Given the description of an element on the screen output the (x, y) to click on. 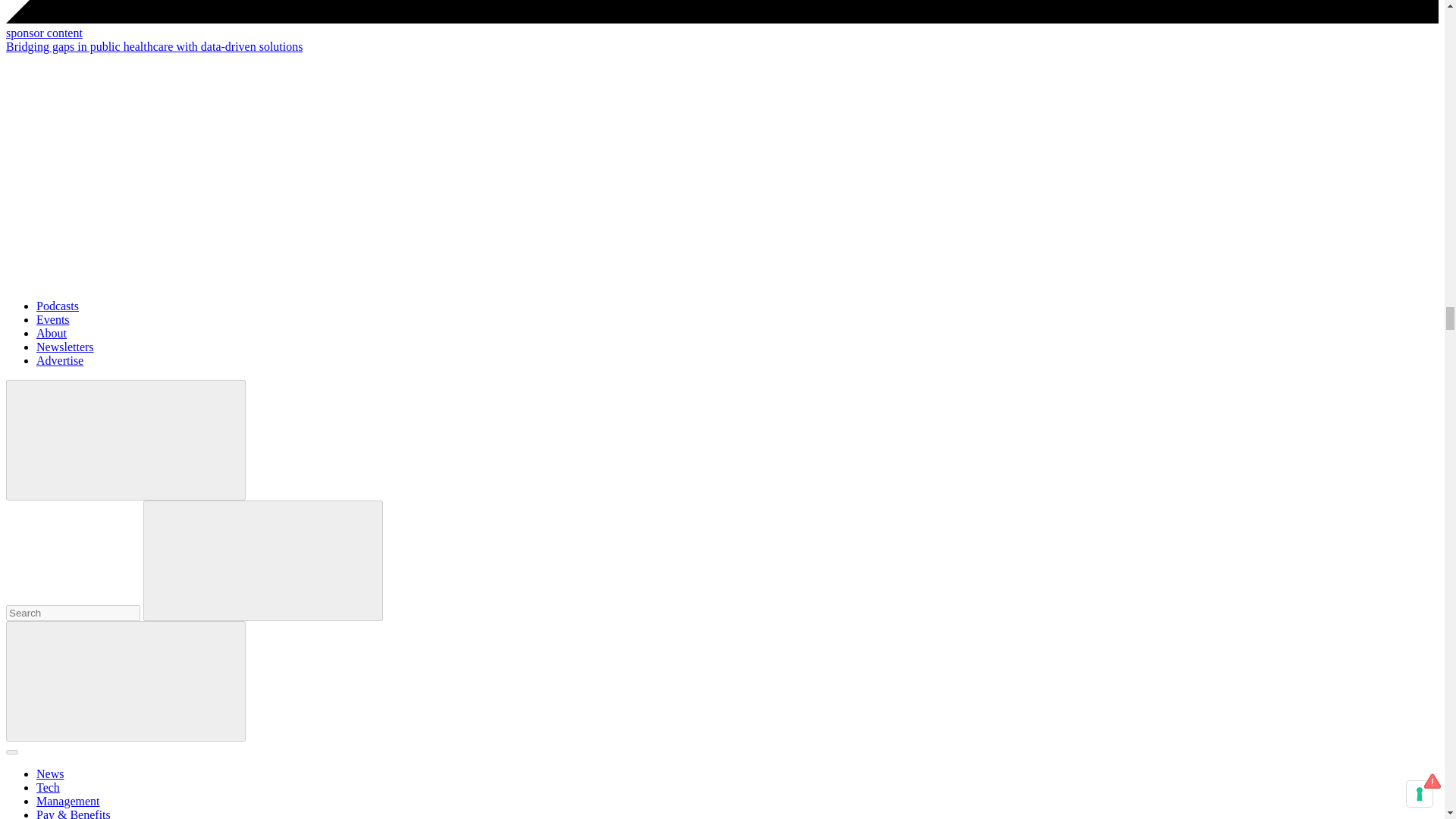
About (51, 332)
Tech (47, 787)
Advertise (59, 359)
News (50, 773)
Management (68, 800)
Newsletters (65, 346)
Events (52, 318)
Podcasts (57, 305)
